Given the description of an element on the screen output the (x, y) to click on. 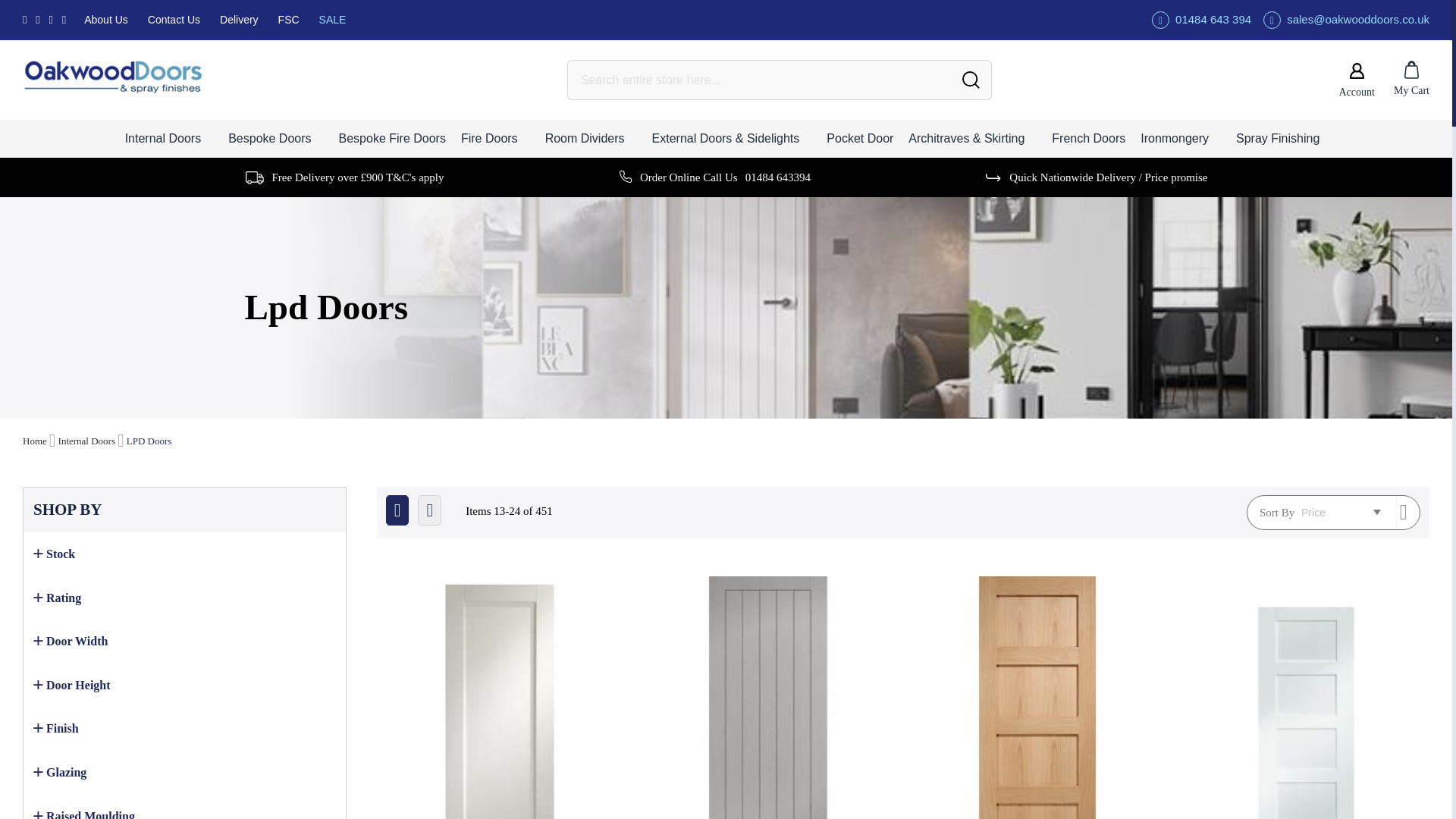
Oakwood Doors and Spray Finishes (121, 79)
Oakwood Doors and Spray Finishes (114, 76)
FSC (288, 19)
Contact Us (174, 19)
My Cart (1411, 78)
Account (1356, 80)
Search (970, 79)
SALE (332, 19)
Internal Doors (173, 138)
01484 643 394 (1200, 19)
